Given the description of an element on the screen output the (x, y) to click on. 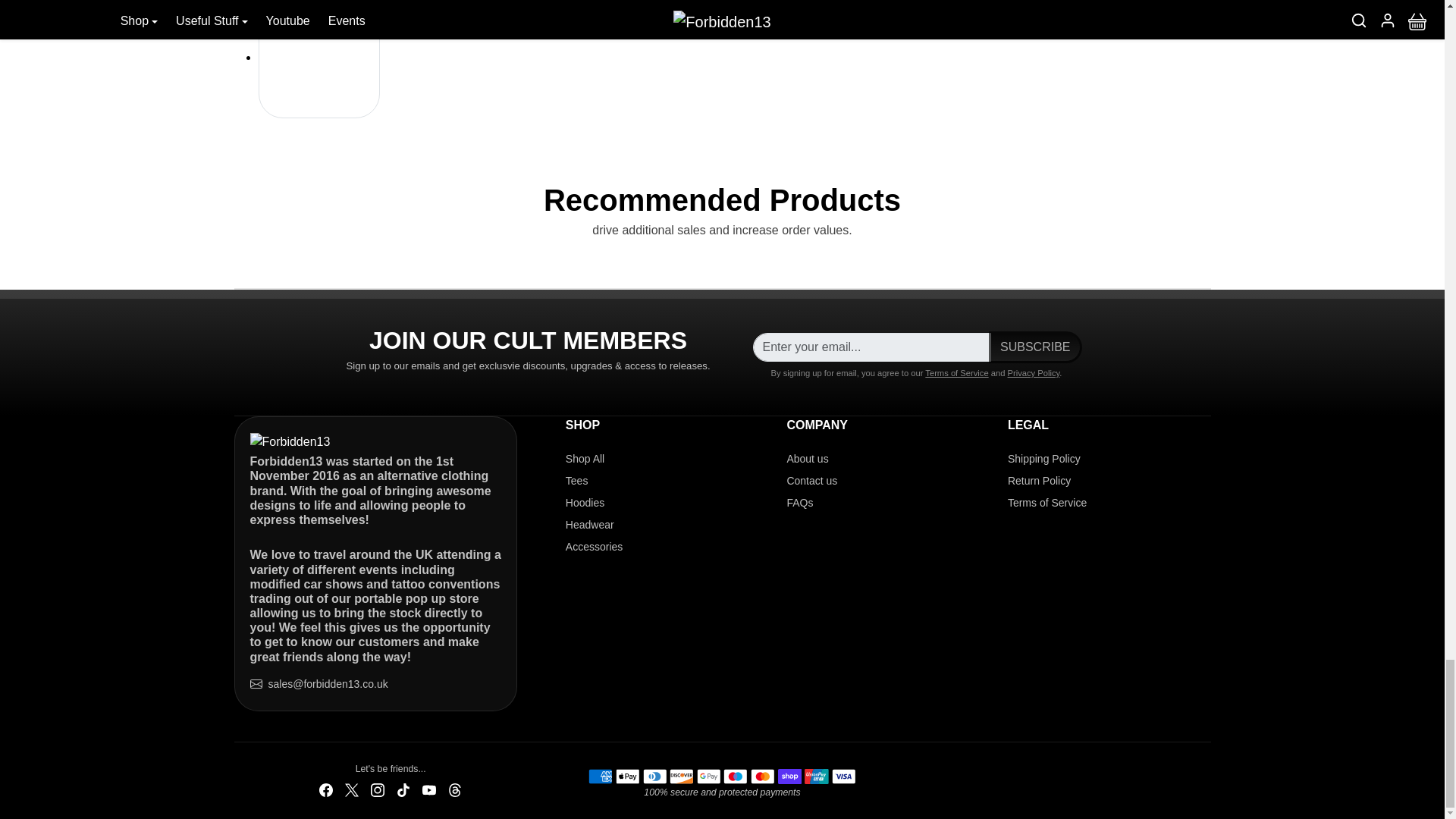
Facebook (326, 789)
Apple Pay (627, 775)
American Express (600, 775)
